Given the description of an element on the screen output the (x, y) to click on. 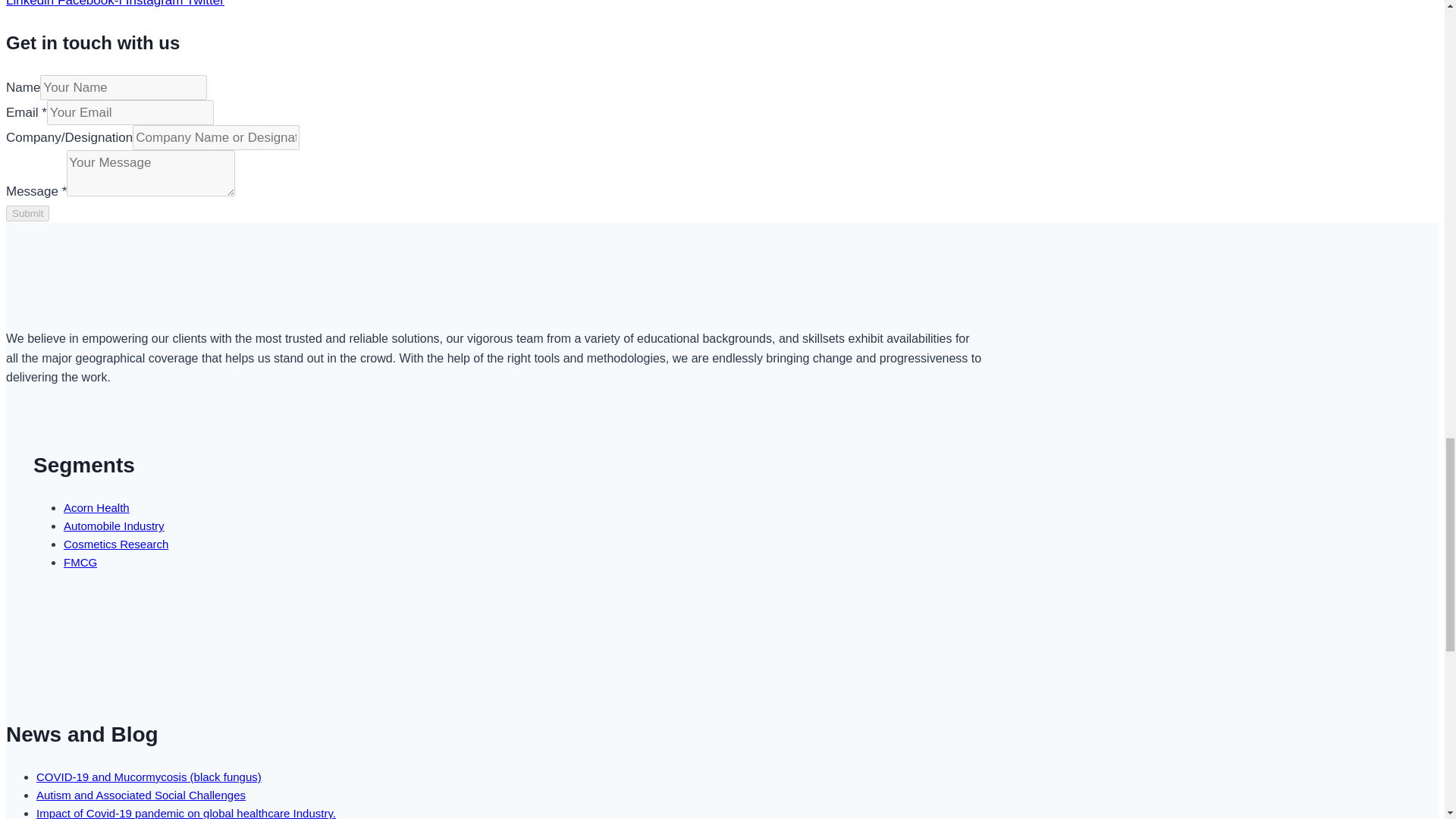
Autism and Associated Social Challenges (141, 794)
Facebook-f (91, 3)
Acorn Health (96, 507)
Twitter (205, 3)
Automobile Industry (114, 525)
Cosmetics Research (116, 543)
Instagram (155, 3)
Impact of Covid-19 pandemic on global healthcare Industry. (186, 812)
Submit (27, 213)
FMCG (80, 562)
